Given the description of an element on the screen output the (x, y) to click on. 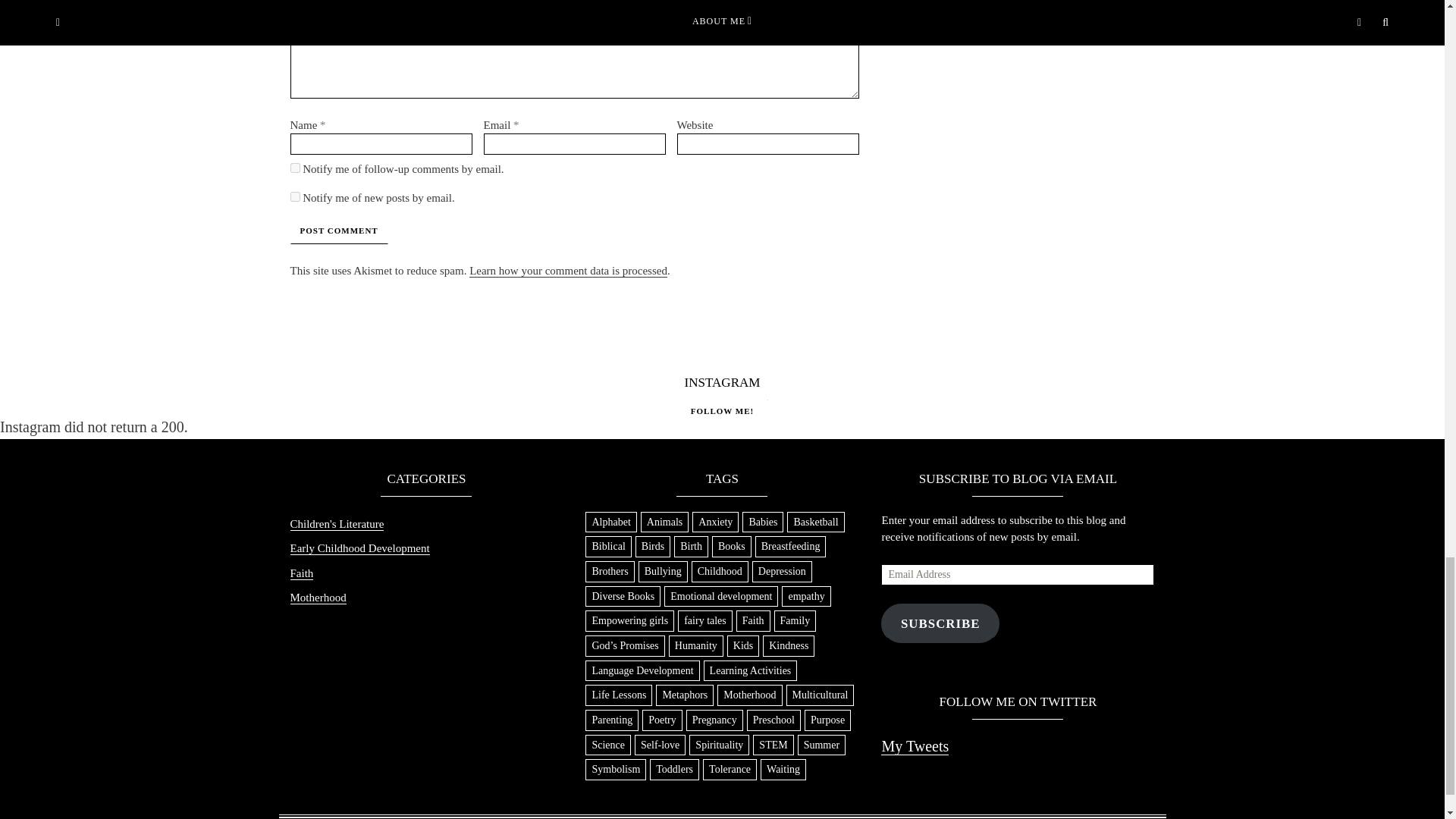
Post Comment (338, 230)
subscribe (294, 167)
Learn how your comment data is processed (567, 270)
subscribe (294, 196)
Post Comment (338, 230)
